Given the description of an element on the screen output the (x, y) to click on. 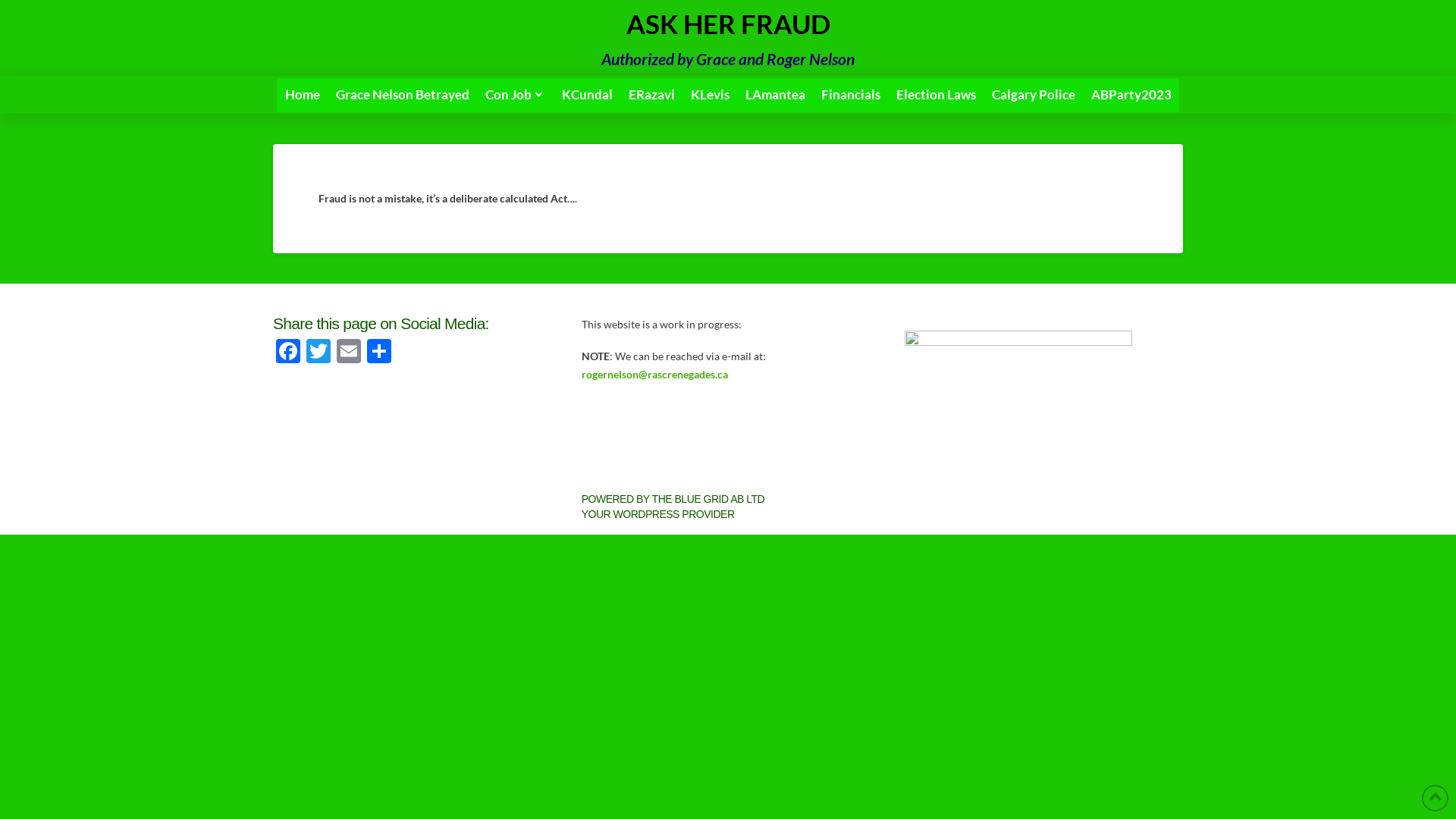
rogernelson@rascrenegades.ca Element type: text (654, 373)
Facebook Element type: text (288, 352)
LAmantea Element type: text (774, 94)
KLevis Element type: text (709, 94)
Share Element type: text (379, 352)
Financials Element type: text (850, 94)
Con Job Element type: text (514, 94)
Calgary Police Element type: text (1032, 94)
KCundal Element type: text (586, 94)
Grace Nelson Betrayed Element type: text (401, 94)
ERazavi Element type: text (651, 94)
Twitter Element type: text (318, 352)
THE BLUE GRID AB LTD Element type: text (708, 498)
Election Laws Element type: text (935, 94)
Email Element type: text (348, 352)
ABParty2023 Element type: text (1130, 94)
Home Element type: text (301, 94)
Back to Top Element type: hover (1434, 797)
